Given the description of an element on the screen output the (x, y) to click on. 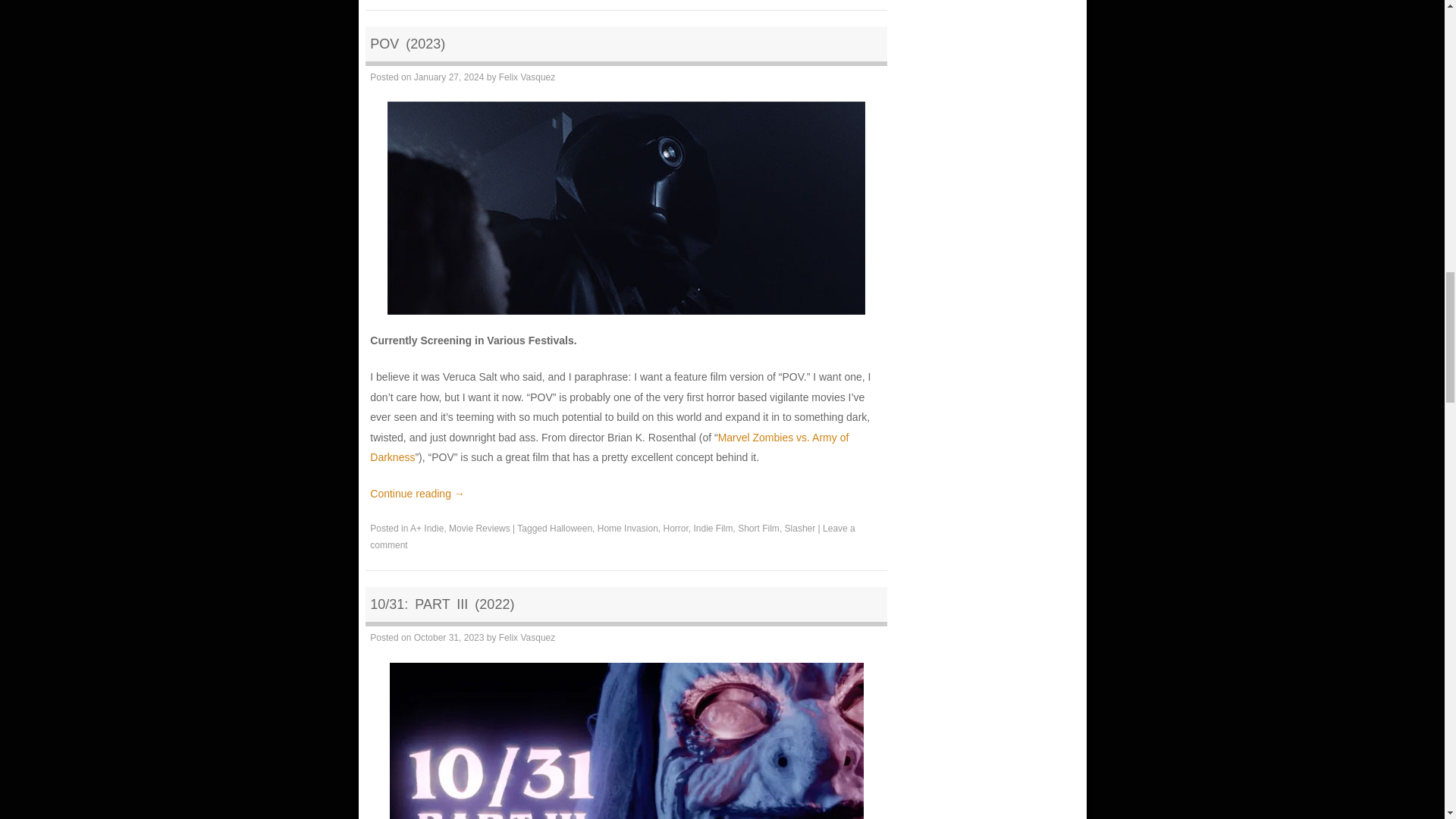
View all posts by Felix Vasquez (526, 77)
View all posts by Felix Vasquez (526, 637)
3:45 am (448, 637)
3:39 pm (448, 77)
